Given the description of an element on the screen output the (x, y) to click on. 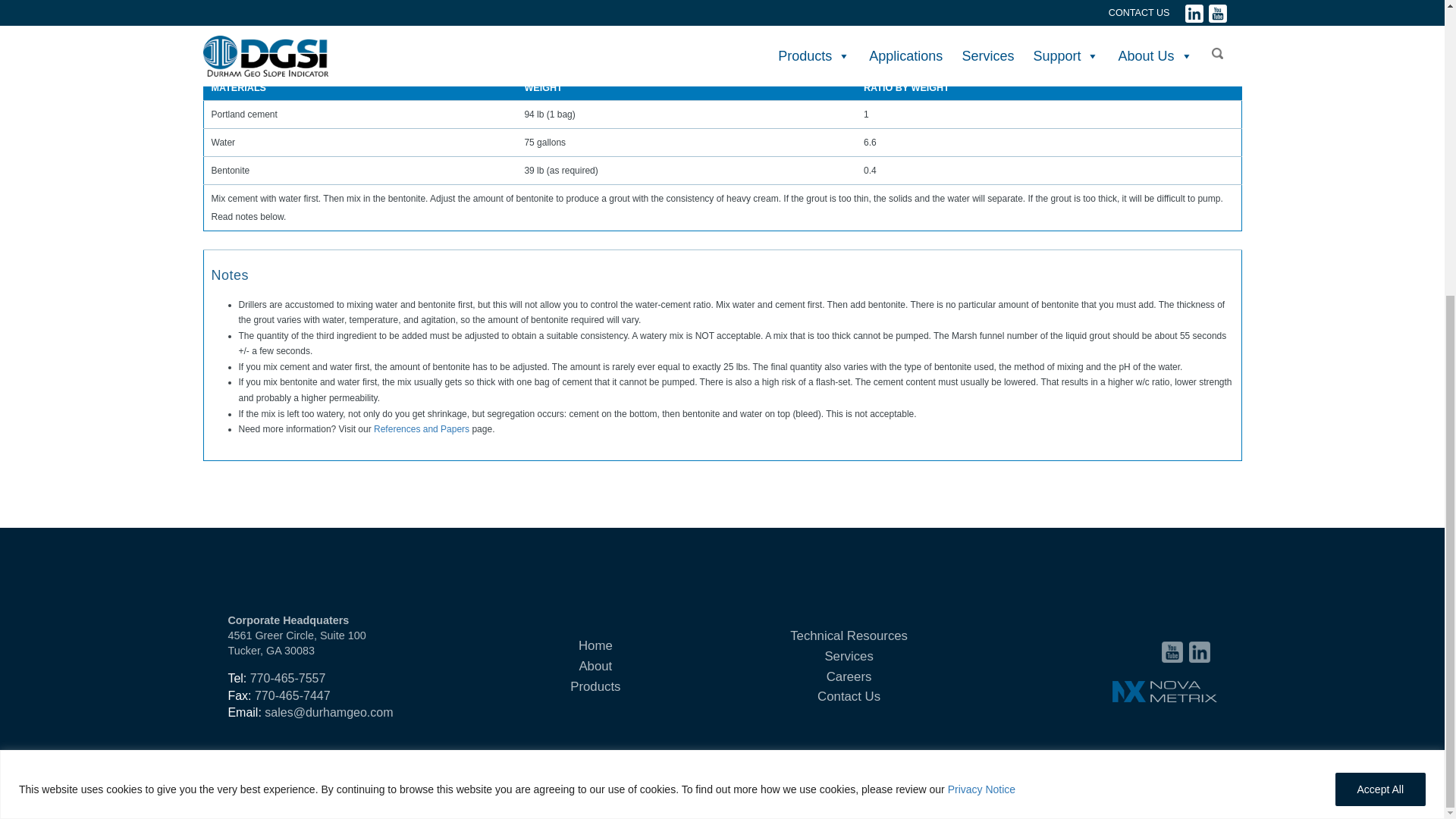
Accept All (1380, 334)
Privacy Notice (980, 334)
